Given the description of an element on the screen output the (x, y) to click on. 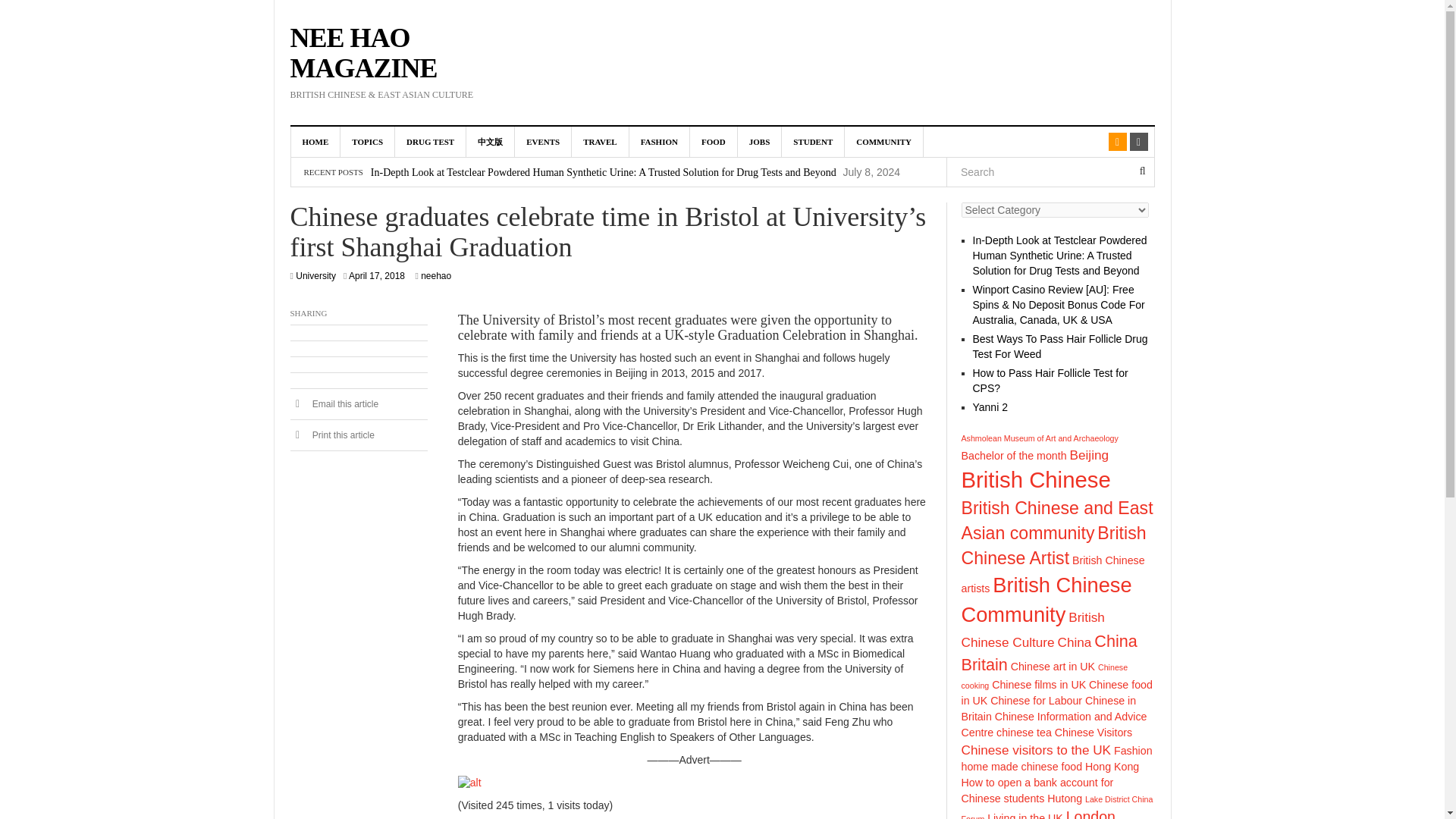
STUDENT (812, 141)
JOBS (760, 141)
FASHION (659, 141)
TRAVEL (600, 141)
COMMUNITY (883, 141)
DRUG TEST (429, 141)
EVENTS (543, 141)
NEE HAO MAGAZINE (362, 52)
HOME (315, 141)
FOOD (714, 141)
TOPICS (367, 141)
